Given the description of an element on the screen output the (x, y) to click on. 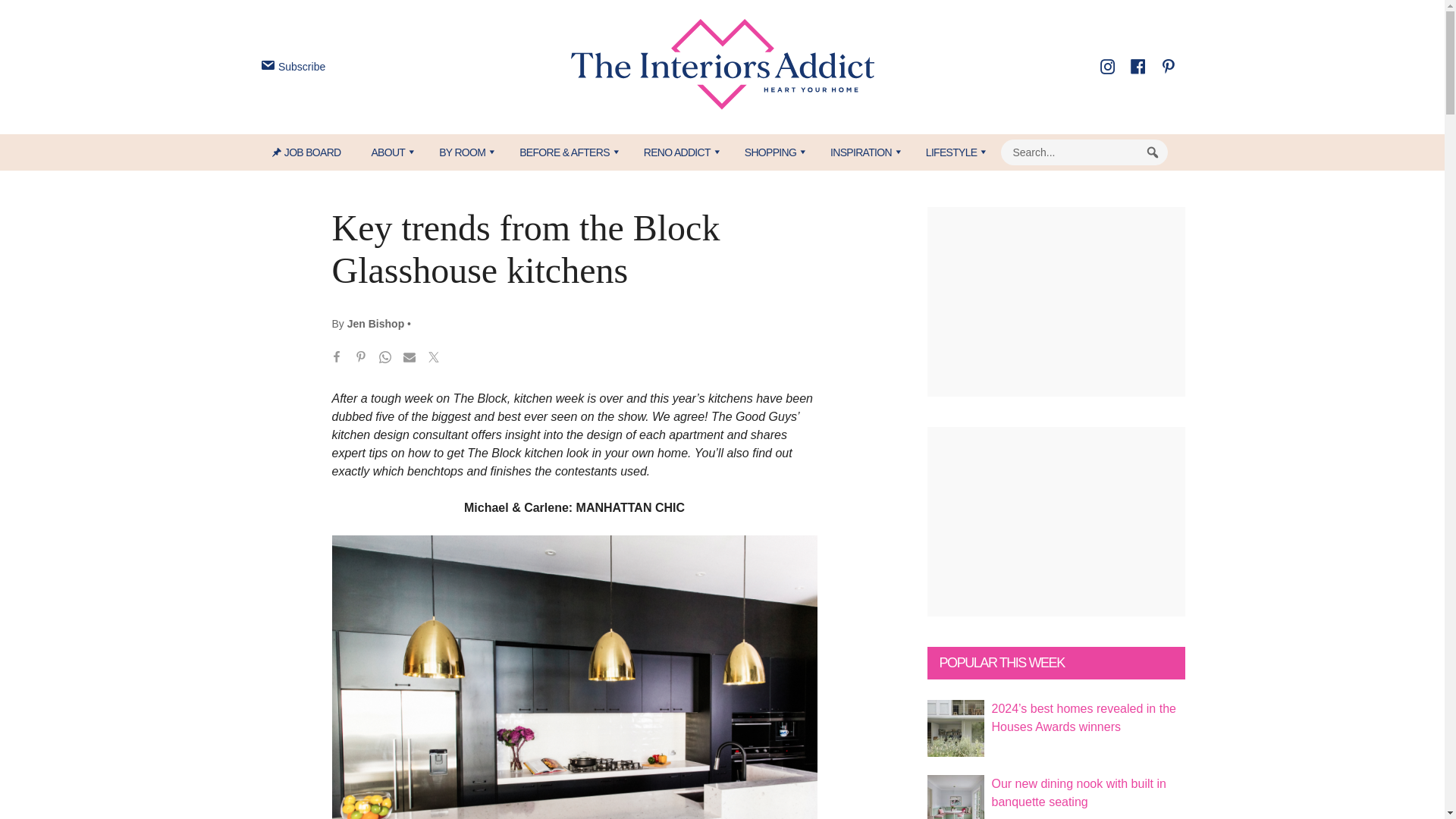
JOB BOARD (313, 152)
ABOUT (389, 152)
Share on Facebook (336, 359)
YES PLEASE! (793, 294)
BY ROOM (463, 152)
Share on Twitter (433, 359)
Subscribe (291, 66)
Share on Pinterest (360, 359)
Share via Email (409, 359)
Search (1152, 151)
